Given the description of an element on the screen output the (x, y) to click on. 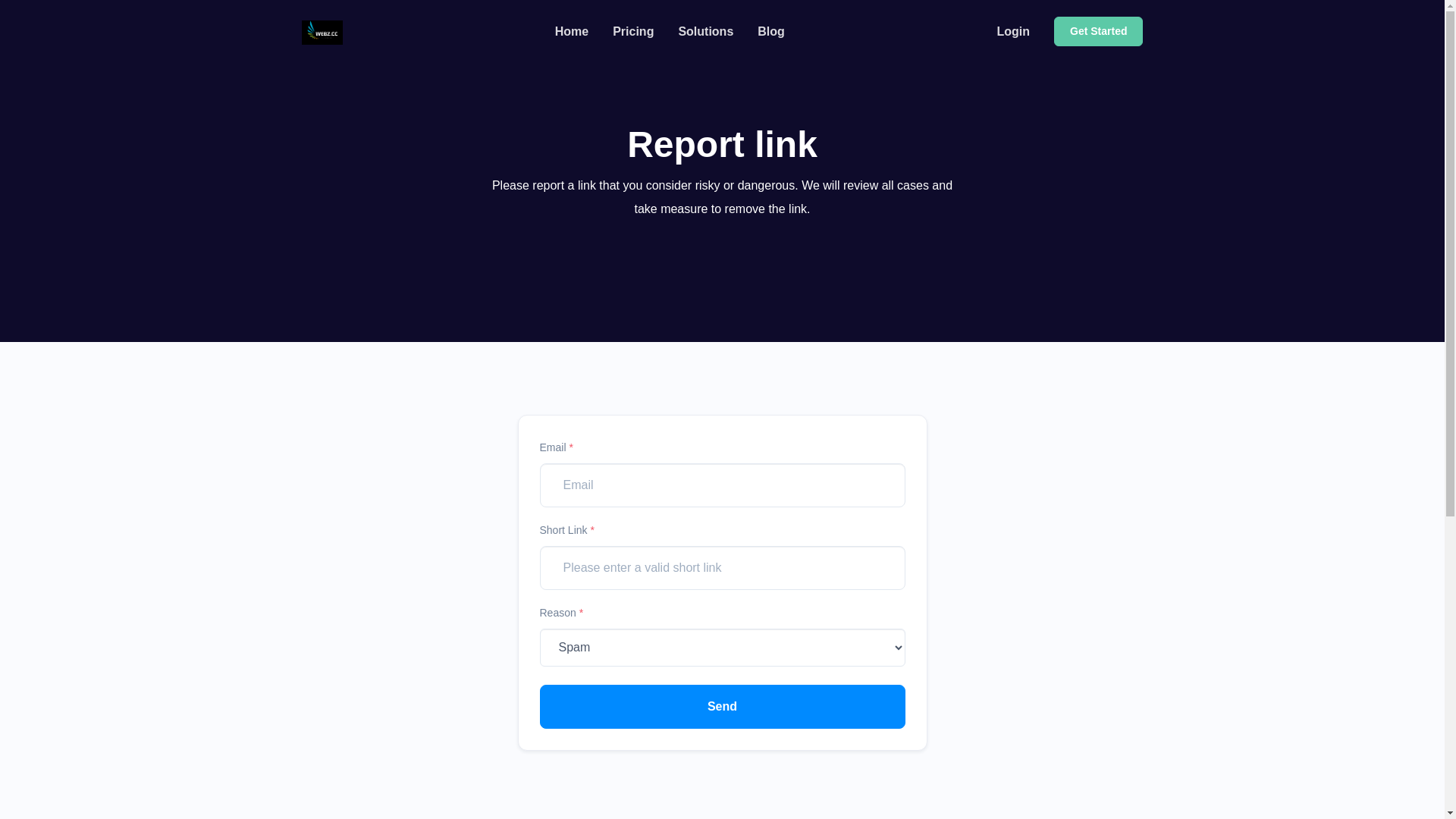
Get Started Element type: text (1098, 31)
Pricing Element type: text (632, 31)
Login Element type: text (1012, 31)
Send Element type: text (722, 706)
WEBZ.CC | URL Shortener and Link Tracking Element type: hover (322, 31)
Blog Element type: text (771, 31)
Solutions Element type: text (705, 31)
Home Element type: text (571, 31)
